Given the description of an element on the screen output the (x, y) to click on. 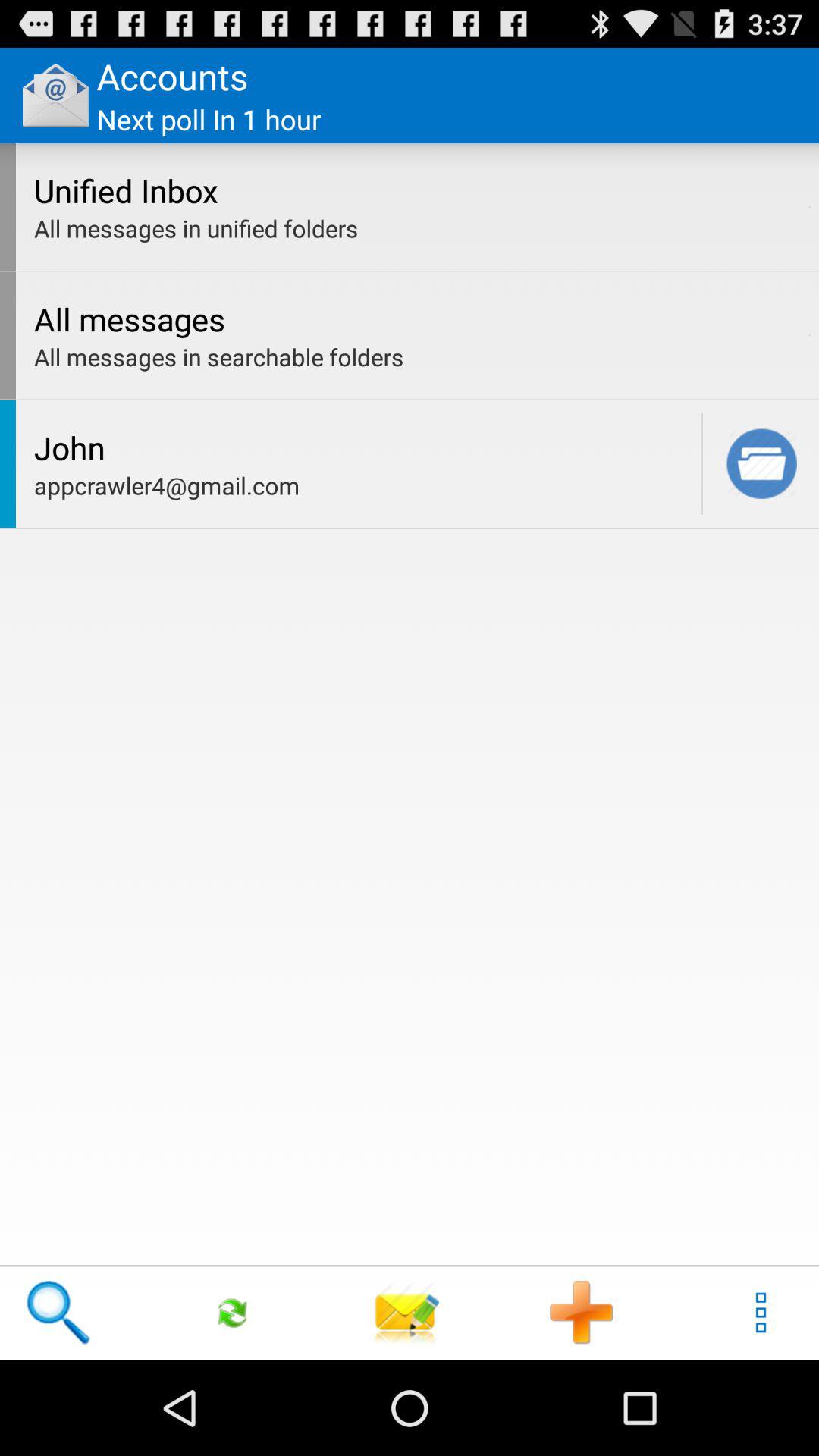
press icon below appcrawler4@gmail.com icon (232, 1312)
